Given the description of an element on the screen output the (x, y) to click on. 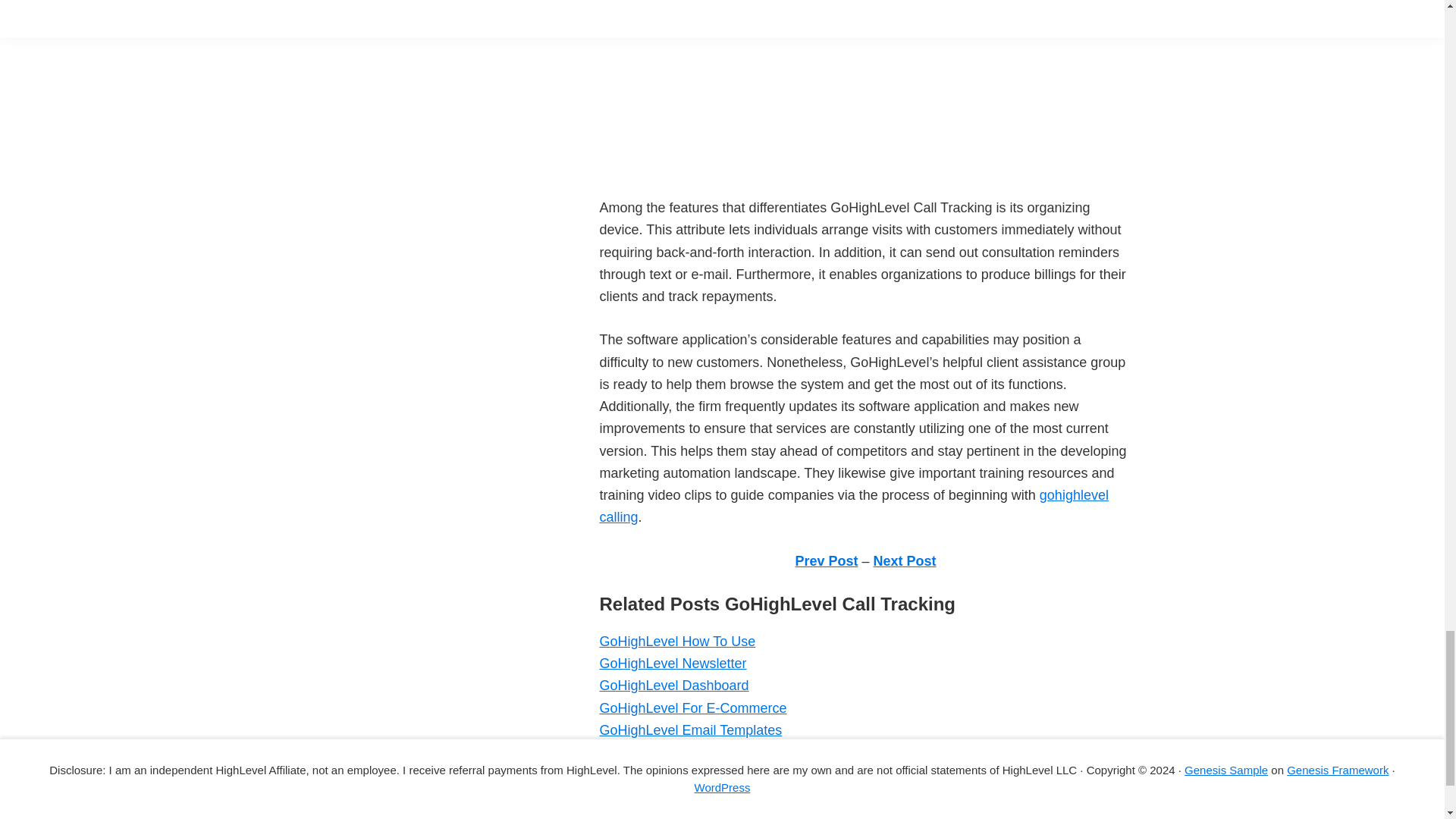
GoHighLevel Website Templates (697, 752)
GoHighLevel Newsletter (671, 663)
Sell GoHighLevel (651, 774)
GoHighLevel For E-Commerce (692, 708)
GoHighLevel Quickbooks (675, 815)
GoHighLevel Email Templates (689, 729)
GoHighLevel How To Use (676, 641)
GoHighLevel Email Templates (689, 729)
Next Post (904, 560)
GoHighLevel Quickbooks (675, 815)
